Given the description of an element on the screen output the (x, y) to click on. 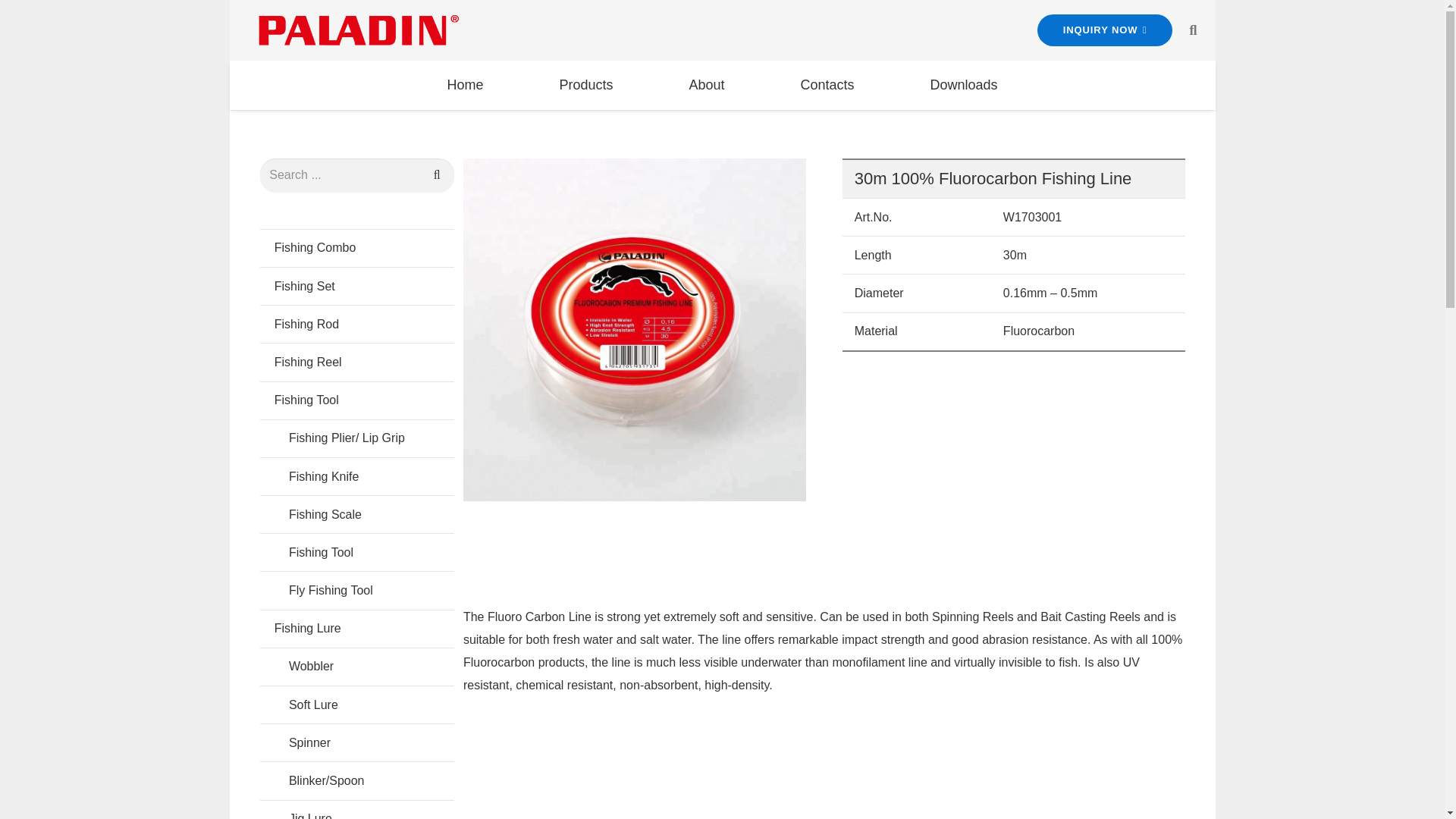
Contacts (827, 84)
INQUIRY NOW (1104, 29)
Fishing Knife (355, 476)
Downloads (963, 84)
Fishing Reel (355, 361)
Fishing Tool (355, 400)
About (705, 84)
Fishing Combo (355, 247)
Fishing Rod (355, 323)
Fishing Set (355, 285)
Fishing Scale (355, 514)
Products (585, 84)
Home (465, 84)
